Given the description of an element on the screen output the (x, y) to click on. 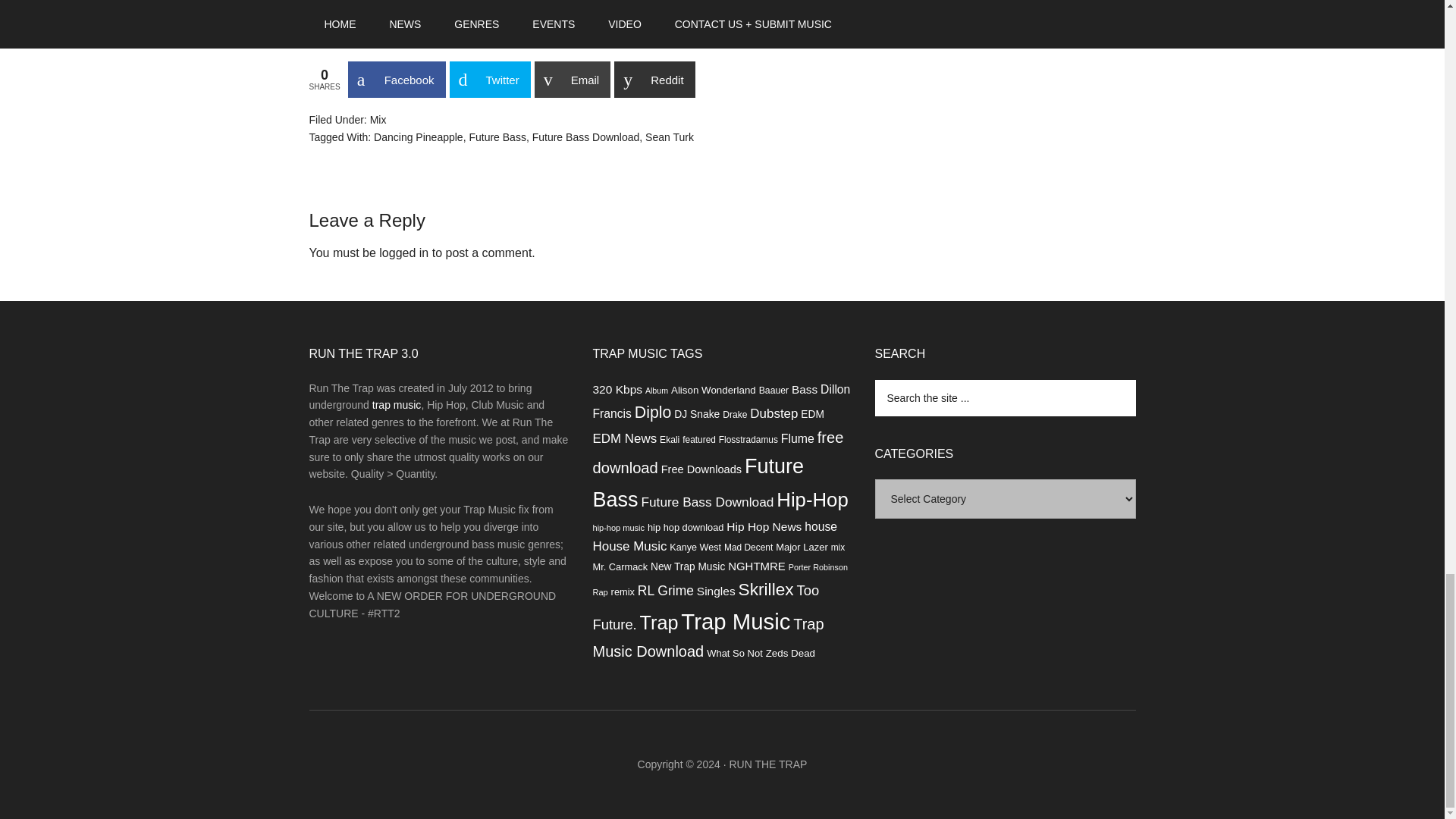
Share on Twitter (488, 79)
Share on Facebook (396, 79)
Share on Reddit (654, 79)
Share on Email (572, 79)
